Given the description of an element on the screen output the (x, y) to click on. 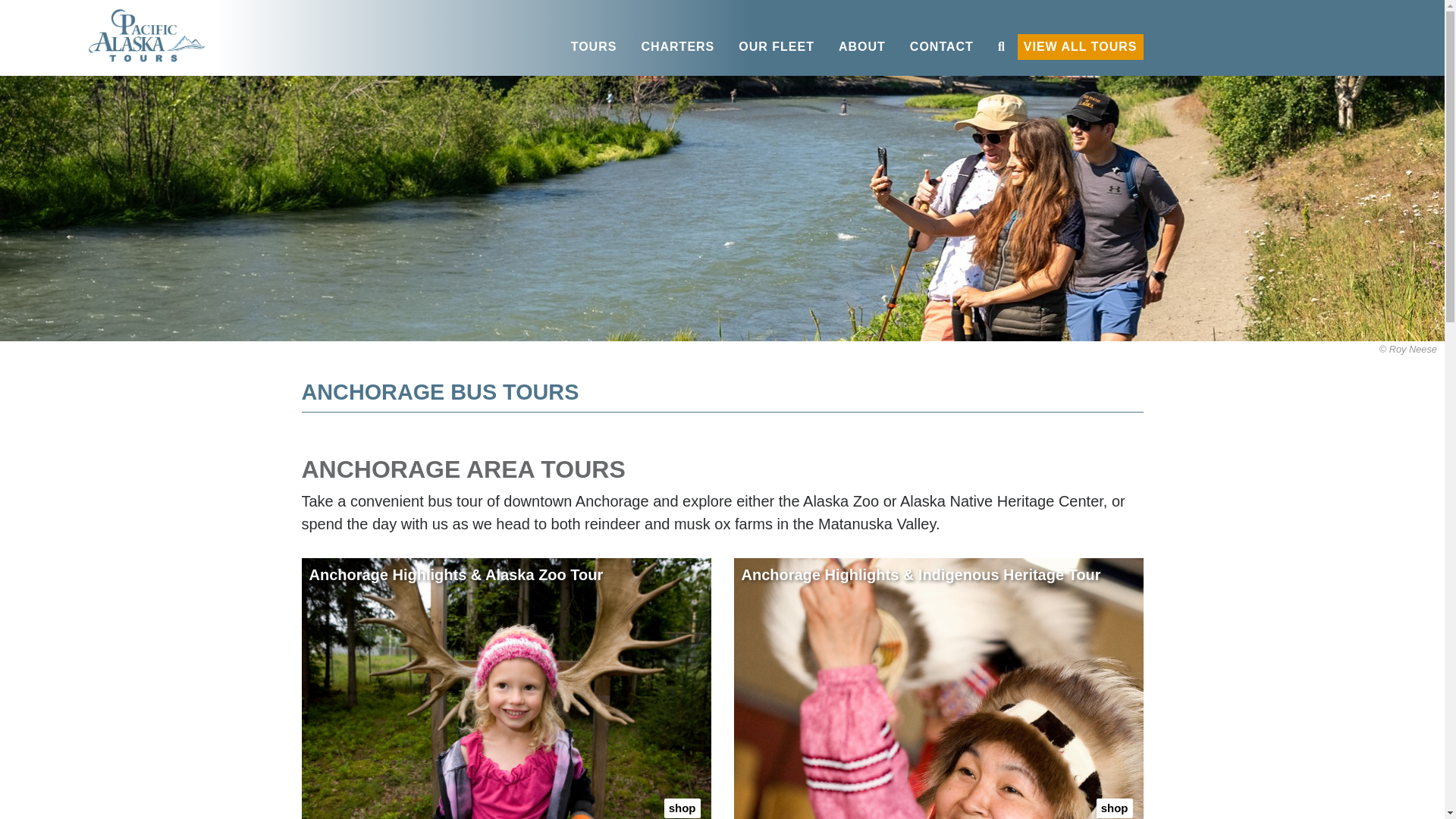
ABOUT (862, 46)
VIEW ALL TOURS (1079, 46)
CHARTERS (677, 46)
OUR FLEET (776, 46)
Anchorage Zoo Tour (506, 688)
TOURS (593, 46)
CONTACT (941, 46)
